Given the description of an element on the screen output the (x, y) to click on. 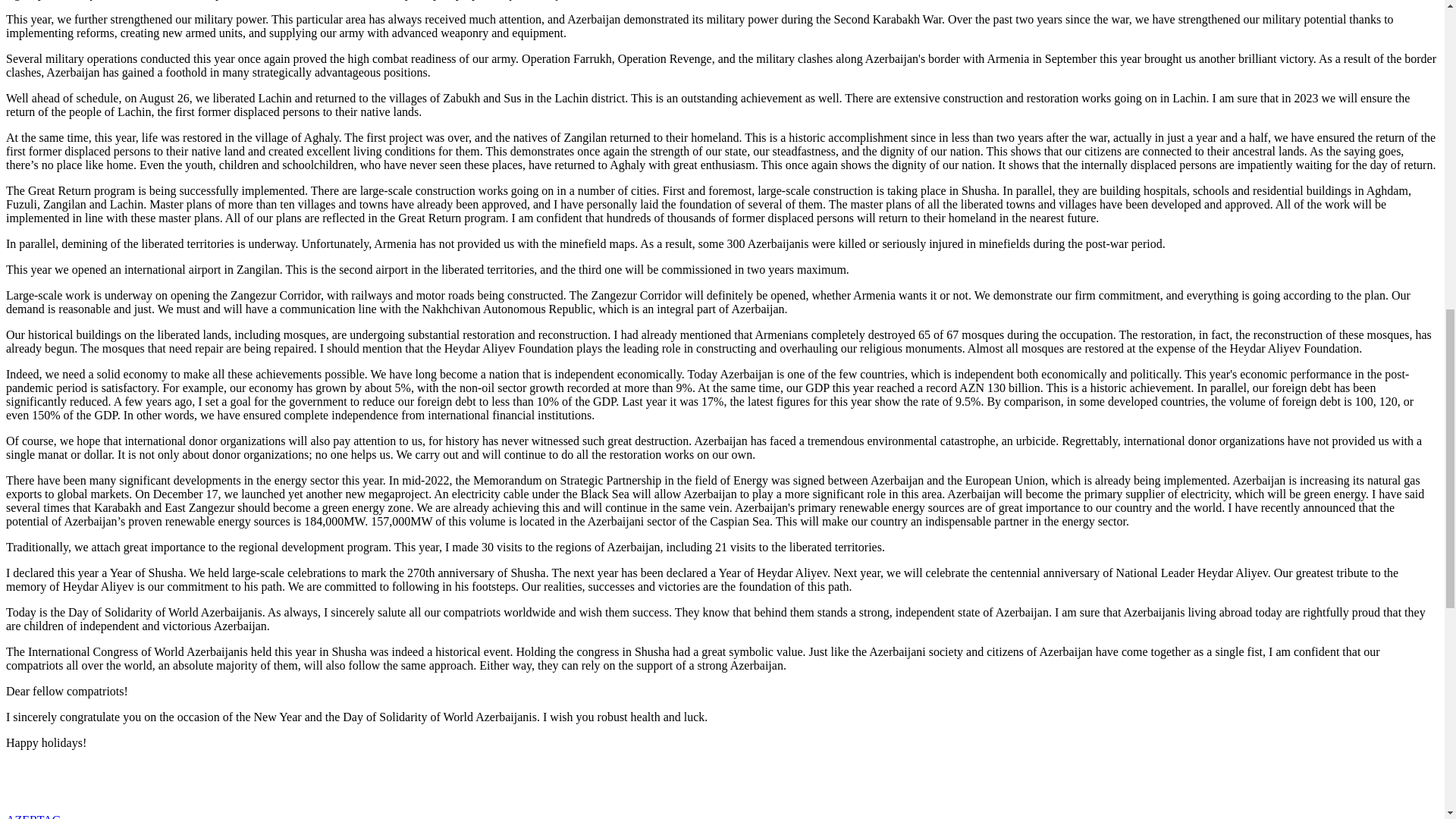
AZERTAG (33, 816)
